Given the description of an element on the screen output the (x, y) to click on. 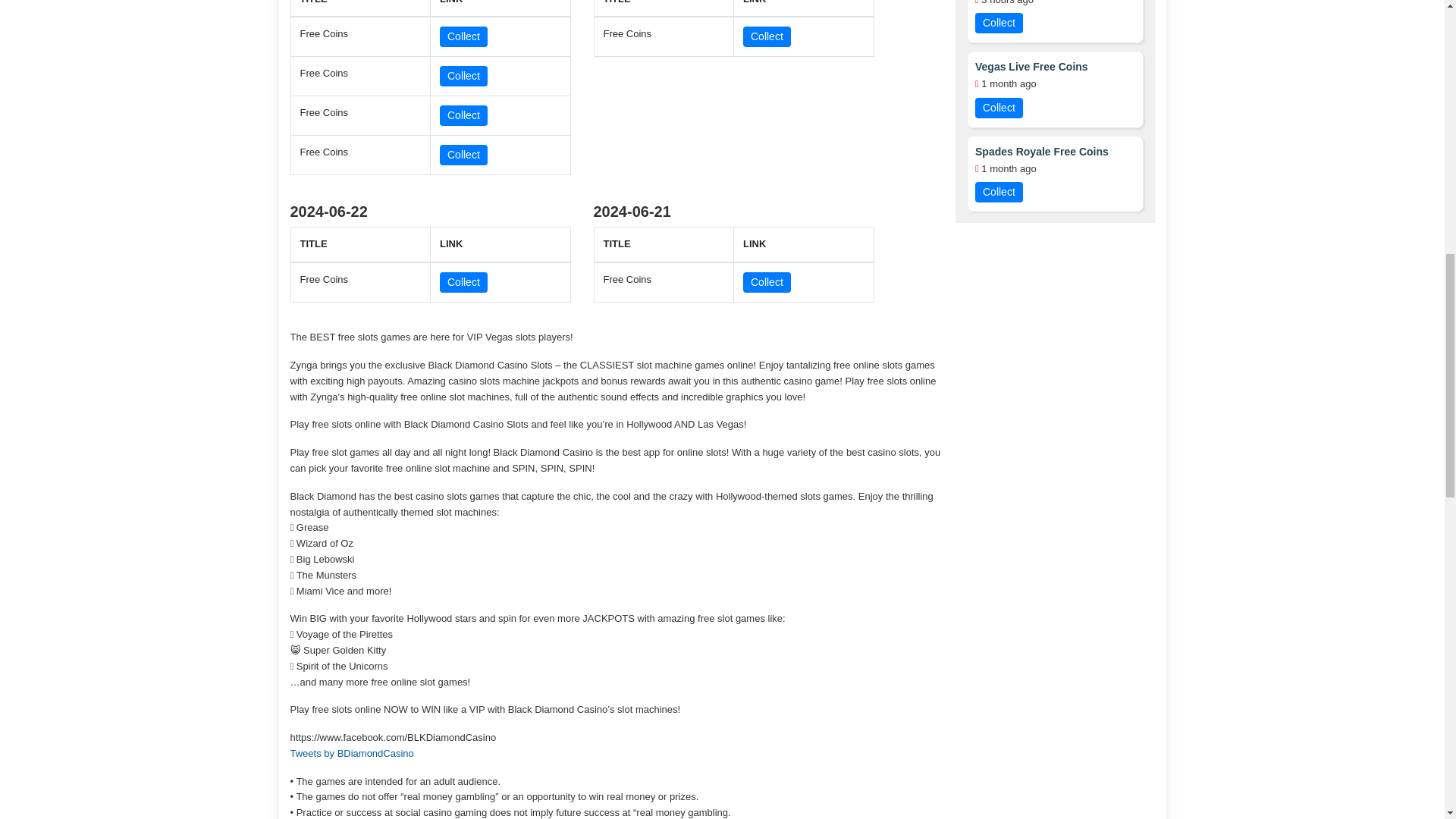
Tweets by BDiamondCasino (351, 753)
Collect (463, 281)
Collect (766, 281)
Collect (463, 36)
Collect (463, 76)
Collect (463, 154)
Collect (766, 36)
Collect (463, 115)
